Given the description of an element on the screen output the (x, y) to click on. 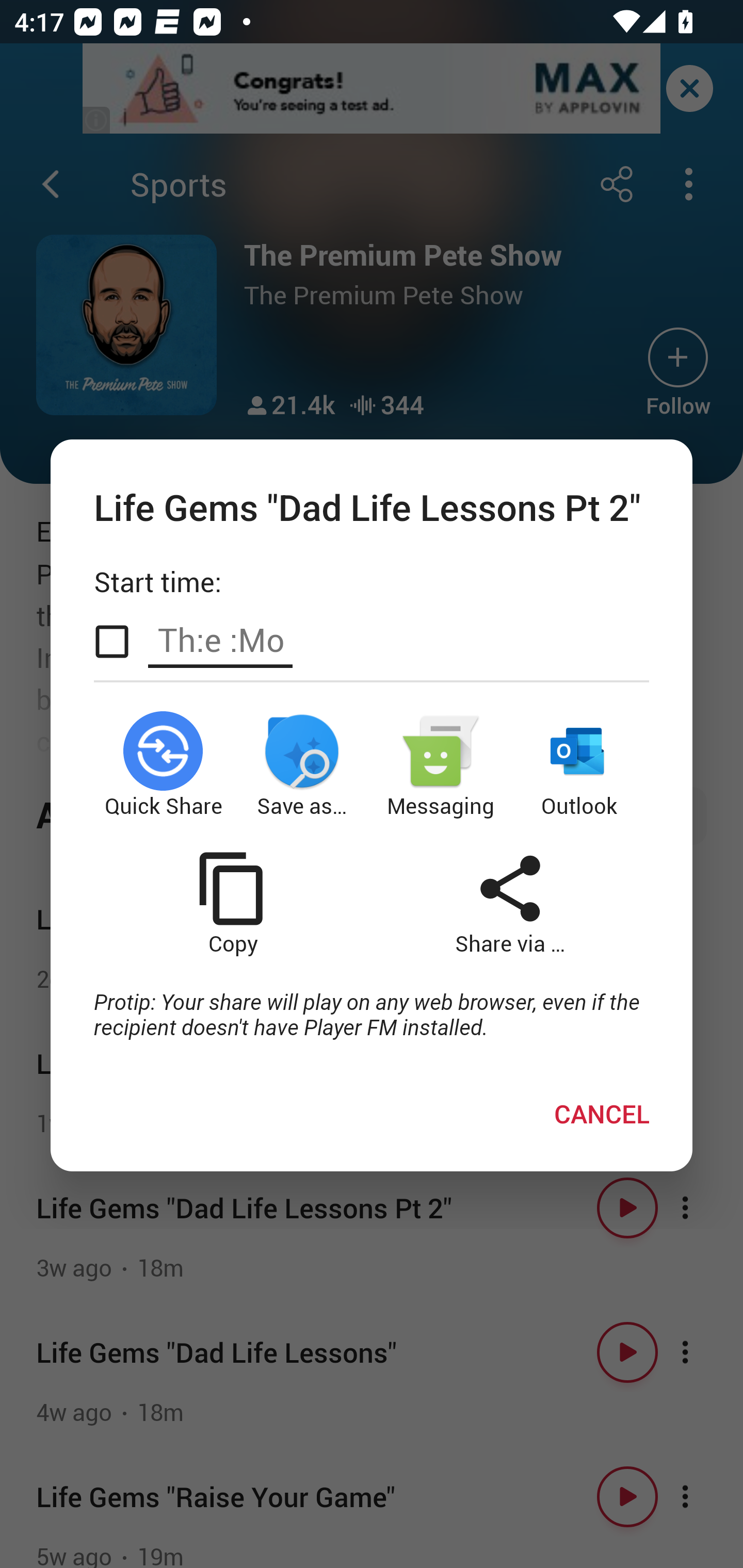
The Mo (220, 639)
Quick Share (163, 765)
Save as… (301, 765)
Messaging (440, 765)
Outlook (579, 765)
Copy (232, 903)
Share via … (509, 903)
CANCEL (600, 1113)
